Given the description of an element on the screen output the (x, y) to click on. 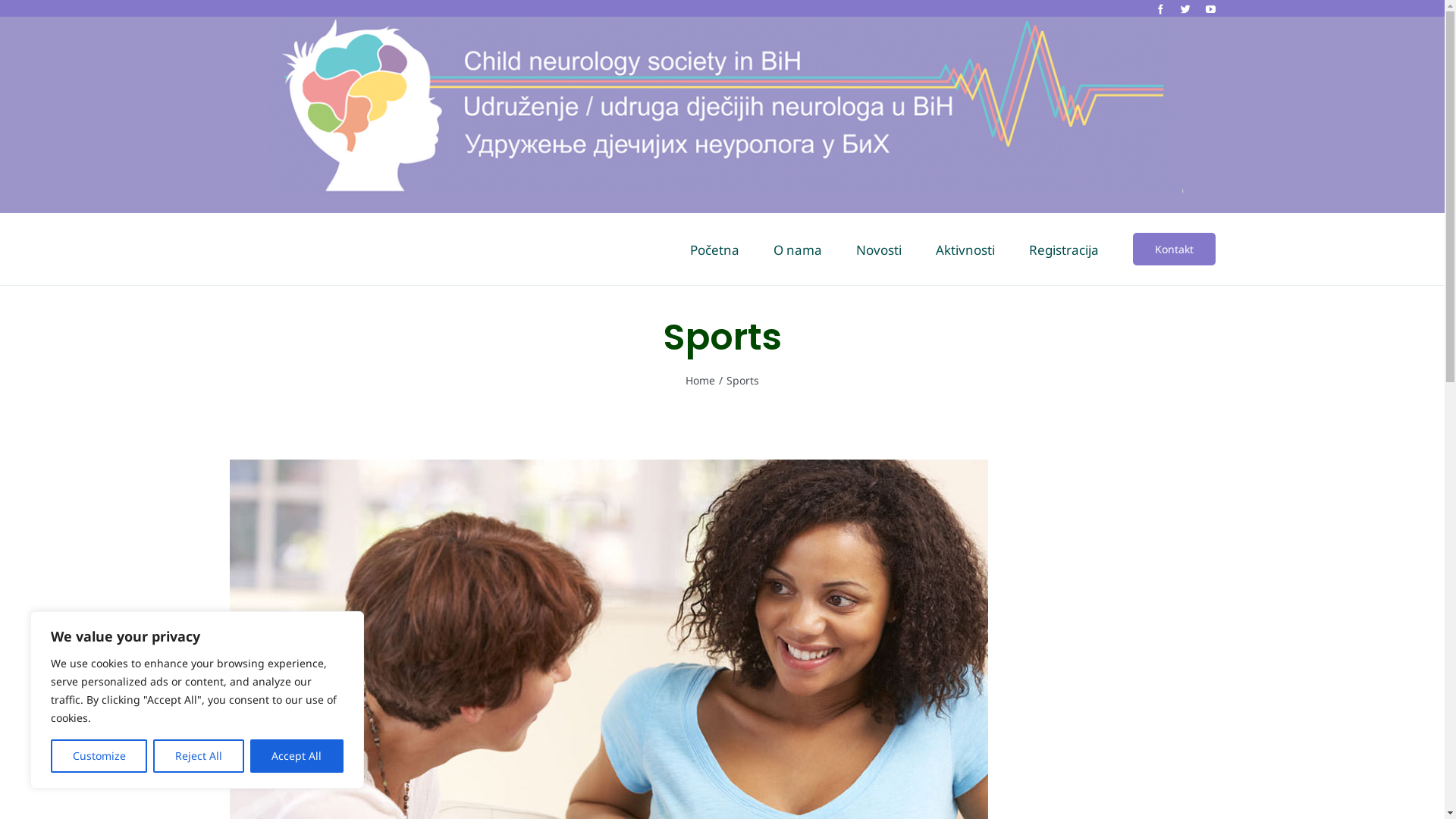
Customize Element type: text (98, 755)
Kontakt Element type: text (1173, 249)
Novosti Element type: text (877, 249)
Home Element type: text (700, 380)
Registracija Element type: text (1063, 249)
Accept All Element type: text (296, 755)
Reject All Element type: text (198, 755)
Aktivnosti Element type: text (964, 249)
O nama Element type: text (797, 249)
